Given the description of an element on the screen output the (x, y) to click on. 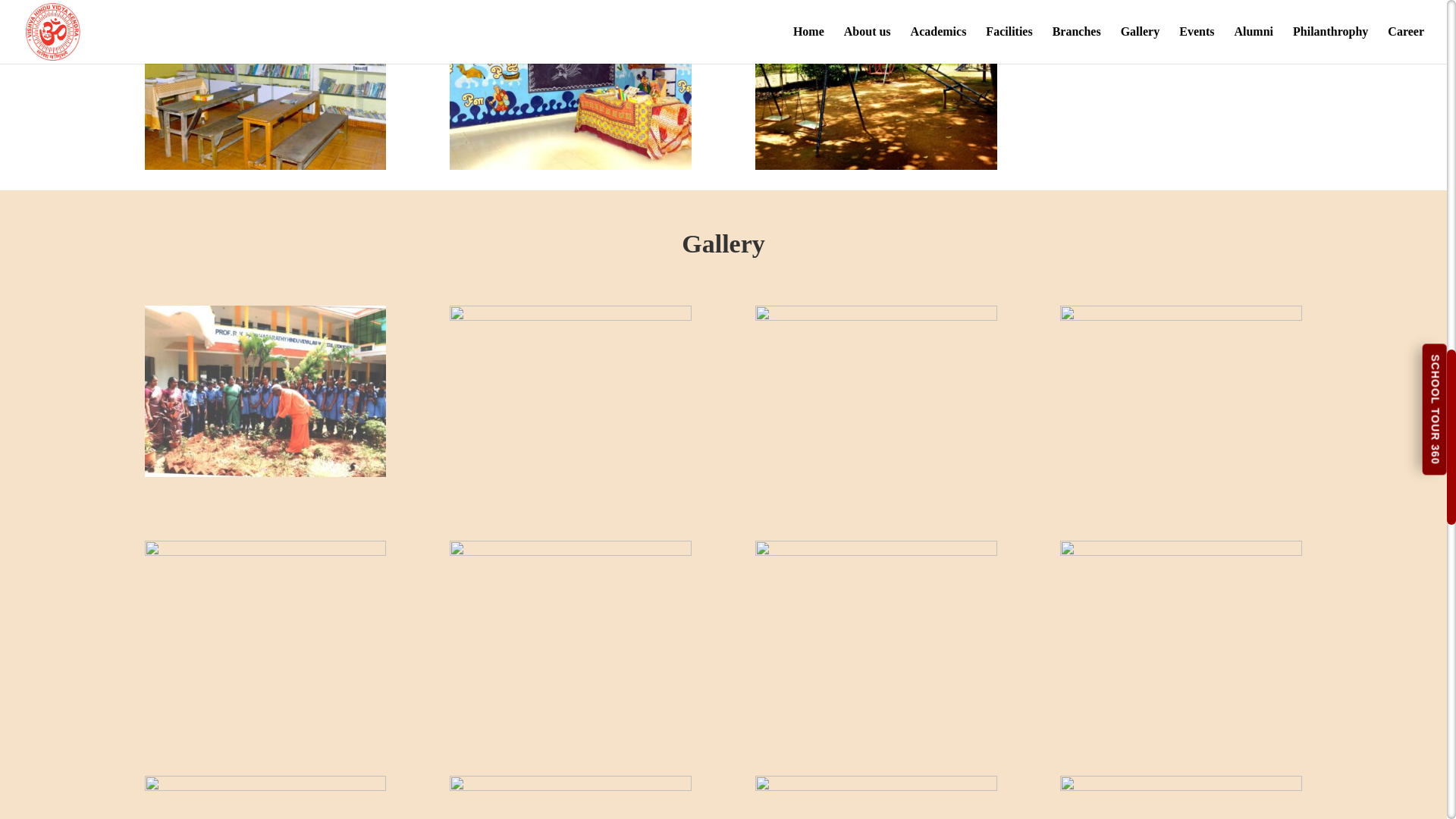
Dance by Teachers on Teachers Day Celebration (265, 786)
LIBRARY (265, 164)
Thiruvilakku Pooja organized during Dusserah (570, 316)
Tiny Tots performance on Kids Day (876, 316)
PLAYGROUND (876, 164)
MONTESSORI (570, 164)
Traditional Pongal Celebration (1180, 316)
Athapoo Kolam by Students on Onam Celebration (570, 551)
